Given the description of an element on the screen output the (x, y) to click on. 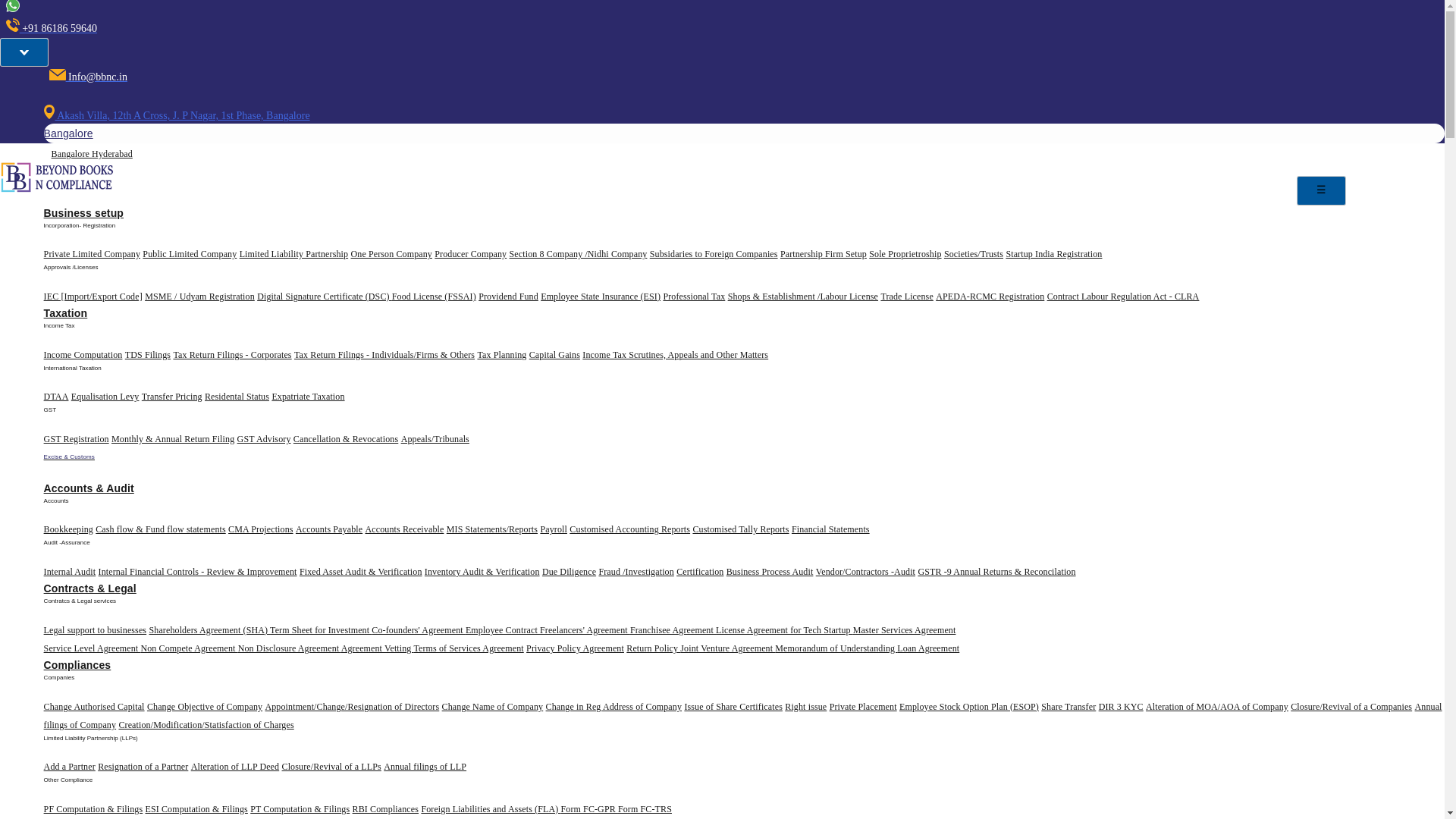
Limited Liability Partnership (293, 253)
Tax Return Filings - Corporates (232, 354)
Akash Villa, 12th A Cross, J. P Nagar, 1st Phase, Bangalore (176, 115)
TDS Filings (147, 354)
Bangalore (68, 132)
One Person Company (390, 253)
Professional Tax (693, 296)
Sole Proprietroship (904, 253)
Contract Labour Regulation Act - CLRA (1122, 296)
Providend Fund (508, 296)
Public Limited Company (188, 253)
Private Limited Company (91, 253)
Business setup (83, 213)
Trade License (906, 296)
Startup India Registration (1054, 253)
